Given the description of an element on the screen output the (x, y) to click on. 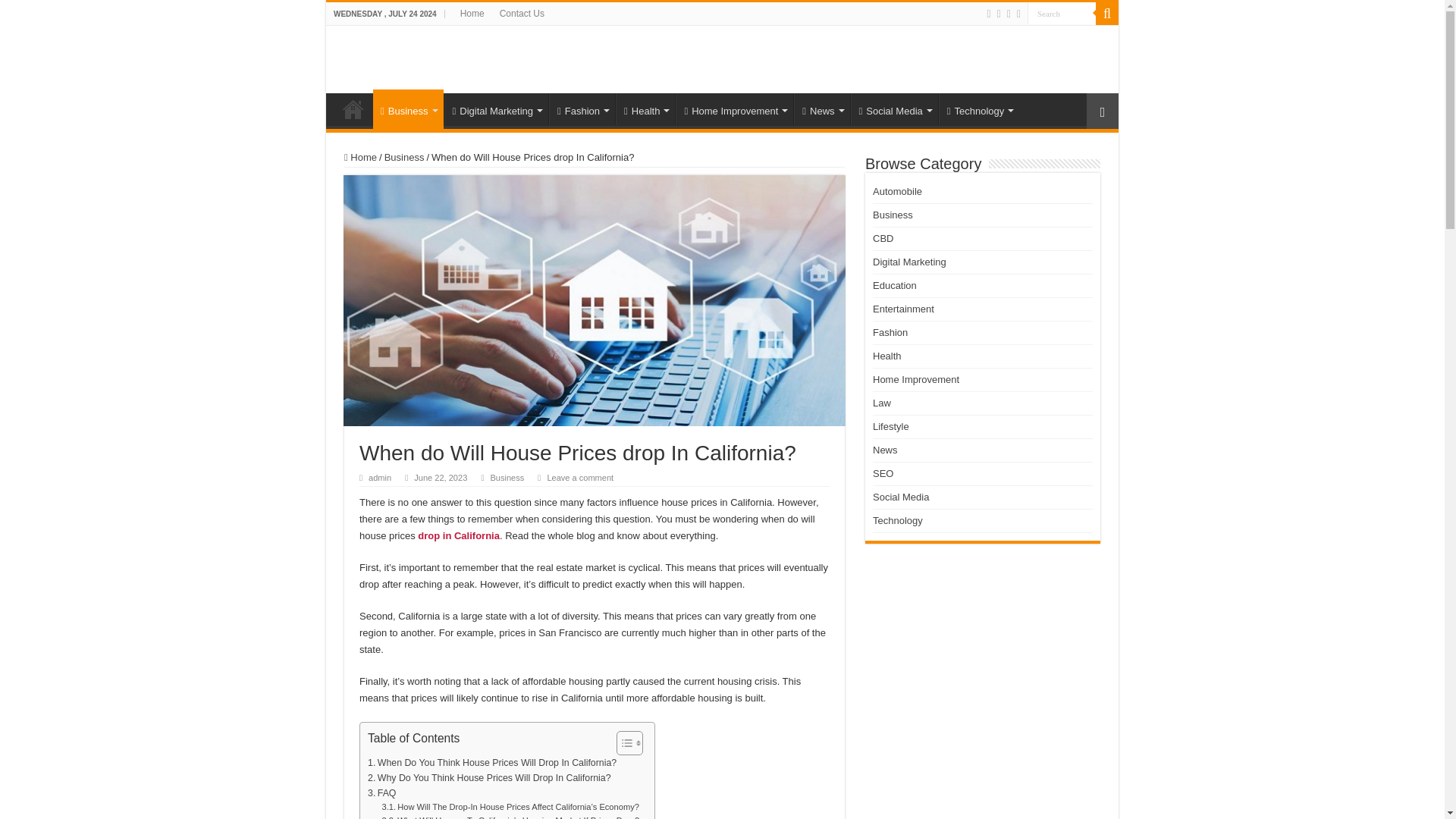
Home (472, 13)
Search (1061, 13)
Search (1107, 13)
Digital Marketing (496, 109)
Fashion (581, 109)
Search (1061, 13)
Search (1061, 13)
Twitter (999, 13)
Business (408, 108)
LinkedIn (1018, 13)
Pinterest (1008, 13)
Home (352, 109)
Facebook (988, 13)
Contact Us (521, 13)
